Given the description of an element on the screen output the (x, y) to click on. 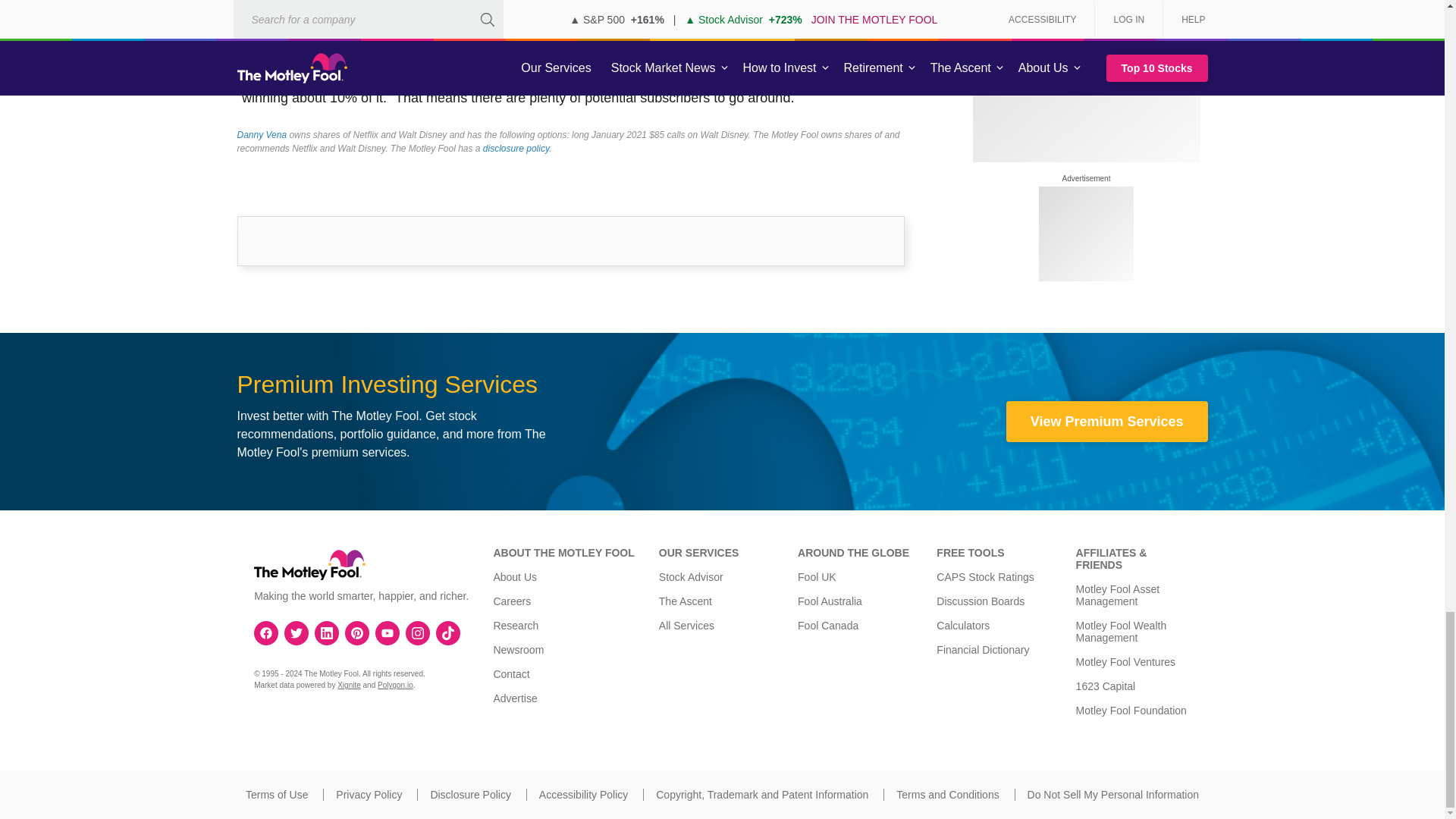
Disclosure Policy (470, 794)
Terms of Use (276, 794)
Privacy Policy (368, 794)
Accessibility Policy (582, 794)
Copyright, Trademark and Patent Information (761, 794)
Do Not Sell My Personal Information. (1112, 794)
Terms and Conditions (947, 794)
